Given the description of an element on the screen output the (x, y) to click on. 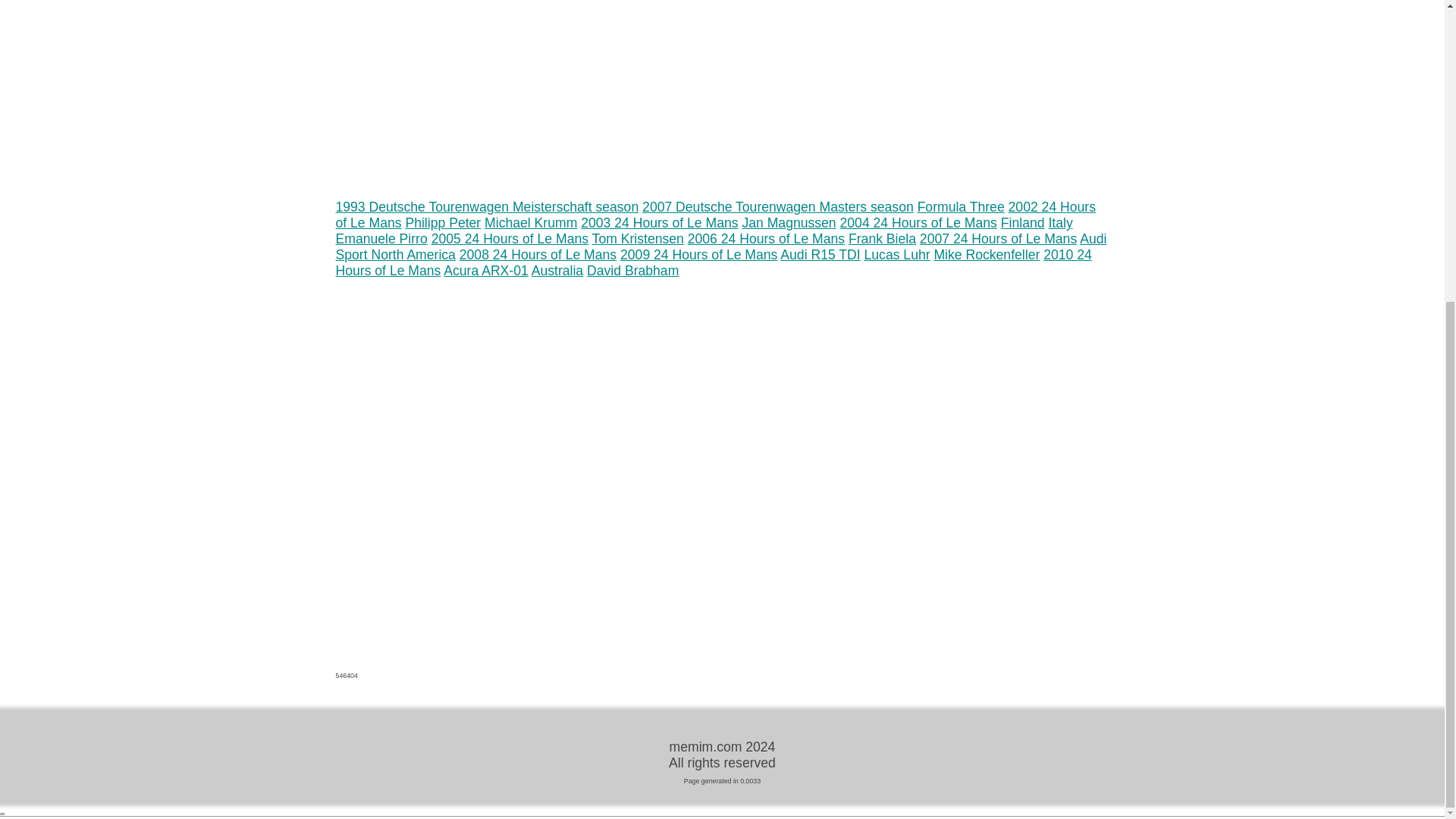
2002 24 Hours of Le Mans (715, 214)
1993 Deutsche Tourenwagen Meisterschaft season (486, 206)
2007 Deutsche Tourenwagen Masters season (778, 206)
Michael Krumm (530, 222)
Philipp Peter (442, 222)
Formula Three (960, 206)
